Given the description of an element on the screen output the (x, y) to click on. 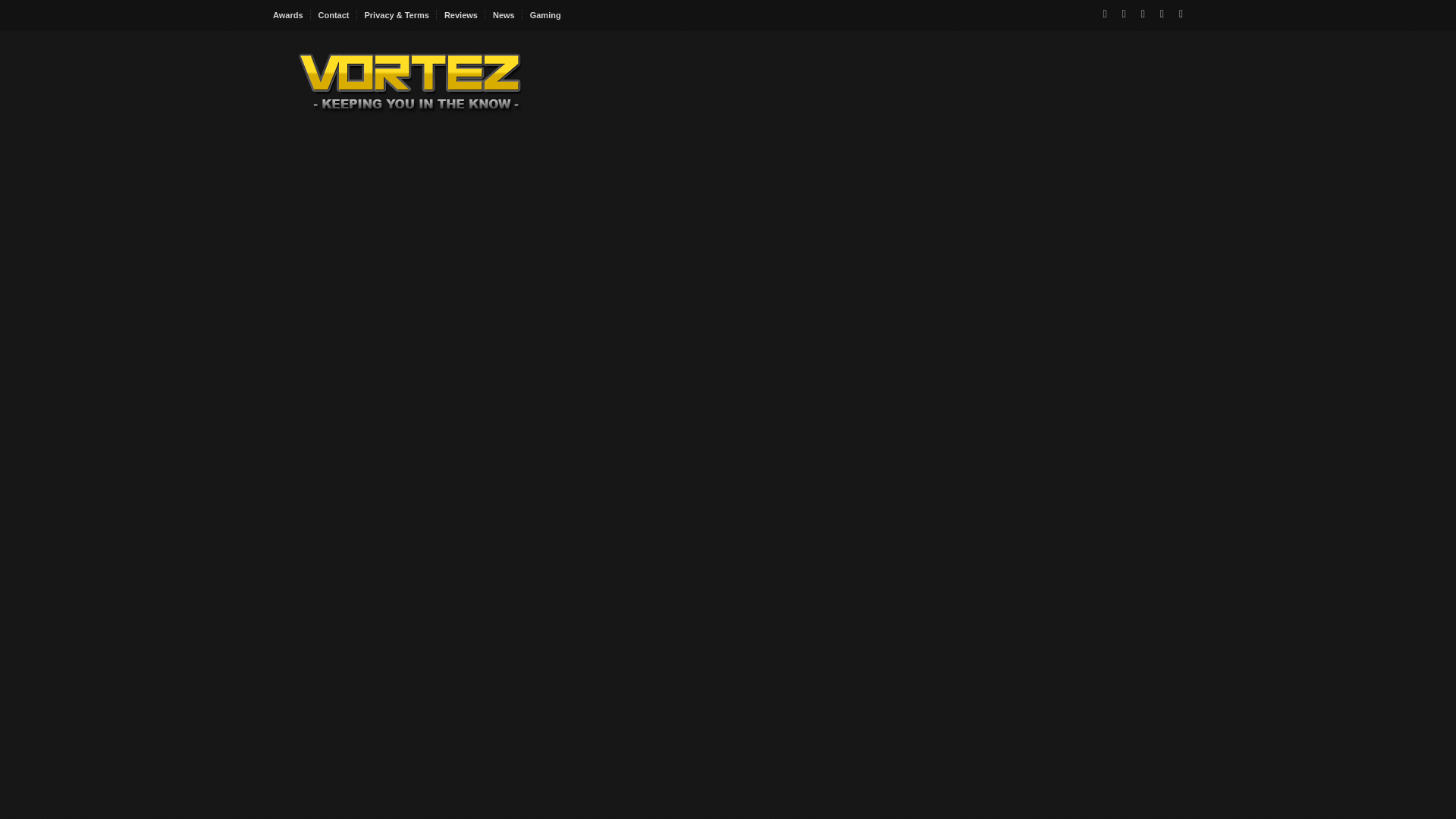
Contact (333, 15)
News (503, 15)
Reviews (460, 15)
Gaming (545, 15)
Awards (292, 15)
